Given the description of an element on the screen output the (x, y) to click on. 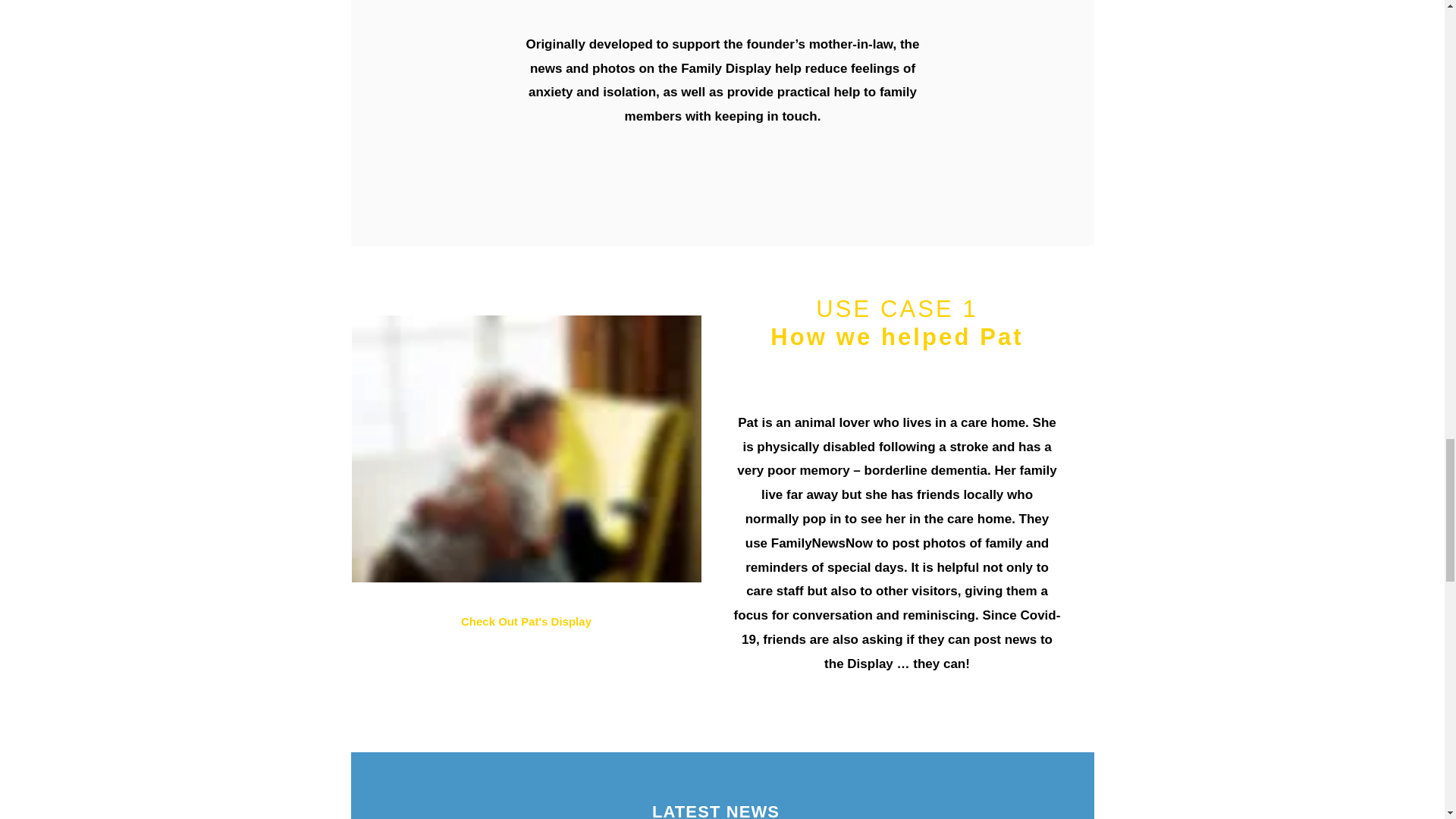
Check Out Pat's Display (525, 621)
